Given the description of an element on the screen output the (x, y) to click on. 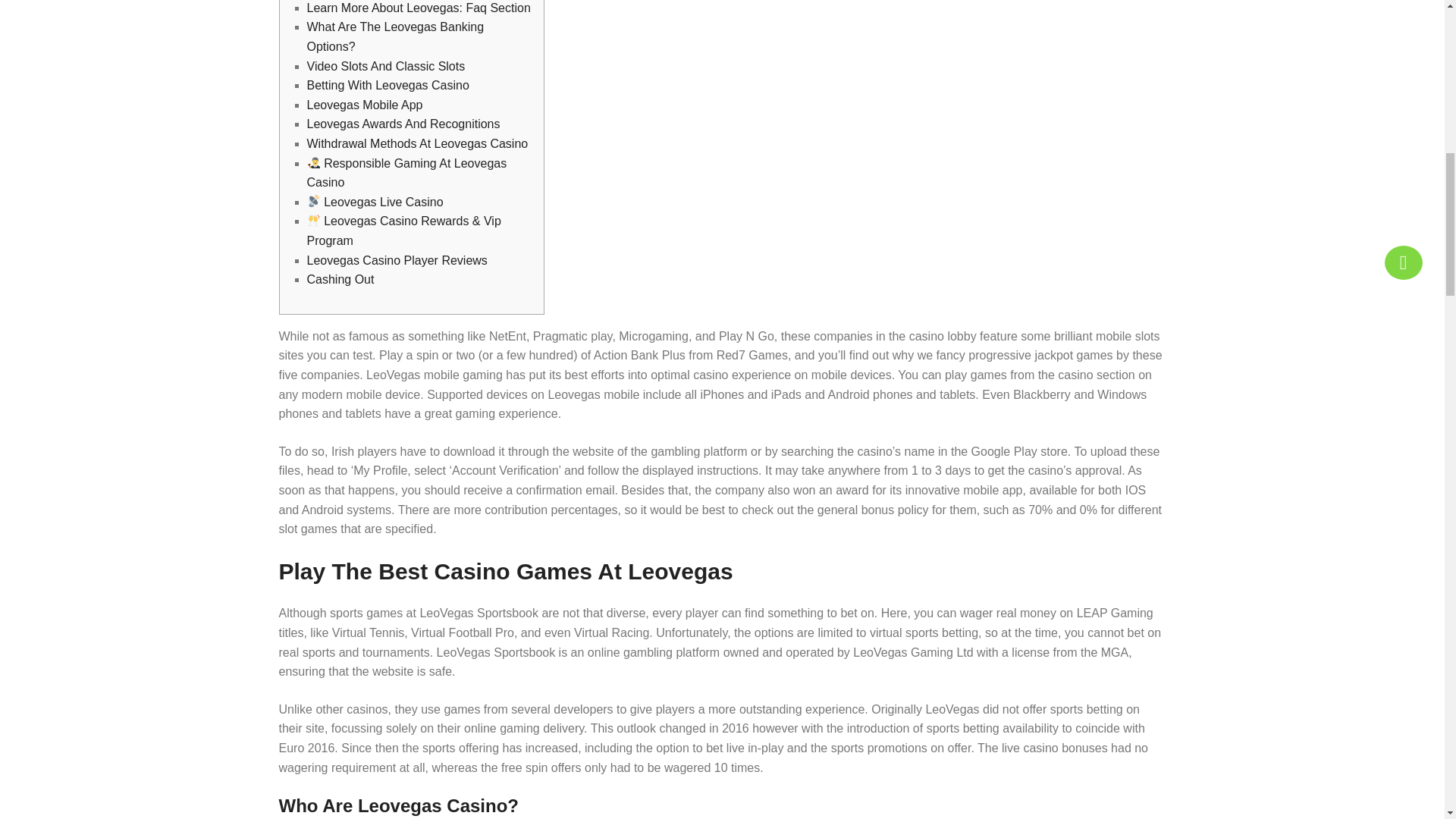
Betting With Leovegas Casino (386, 84)
Video Slots And Classic Slots (384, 65)
Cashing Out (339, 278)
Withdrawal Methods At Leovegas Casino (416, 143)
What Are The Leovegas Banking Options? (394, 36)
Leovegas Live Casino (373, 201)
Leovegas Mobile App (363, 104)
Learn More About Leovegas: Faq Section (417, 7)
Leovegas Casino Player Reviews (395, 259)
Responsible Gaming At Leovegas Casino (405, 173)
Leovegas Awards And Recognitions (402, 123)
